Given the description of an element on the screen output the (x, y) to click on. 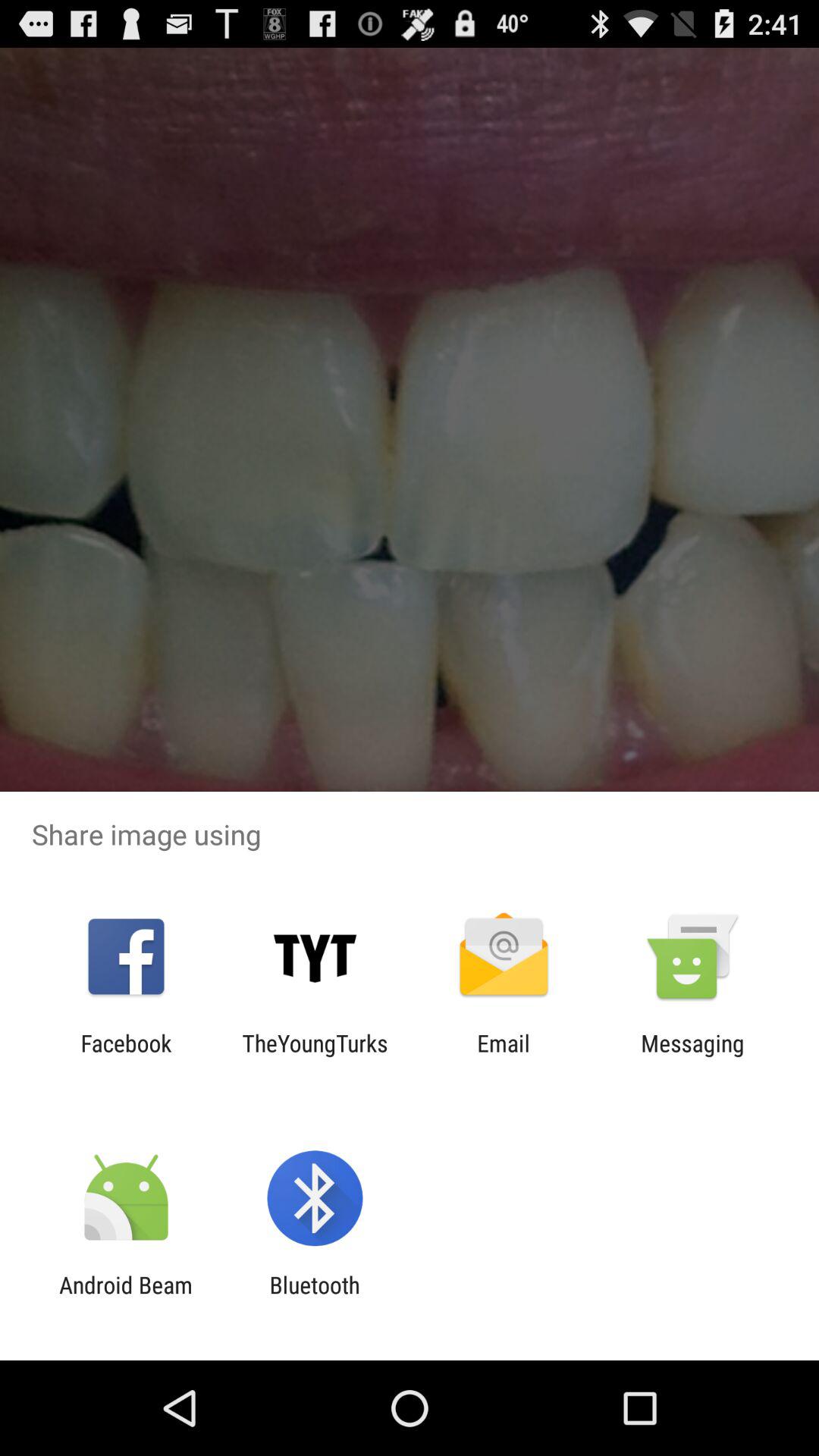
press the app next to messaging app (503, 1056)
